Given the description of an element on the screen output the (x, y) to click on. 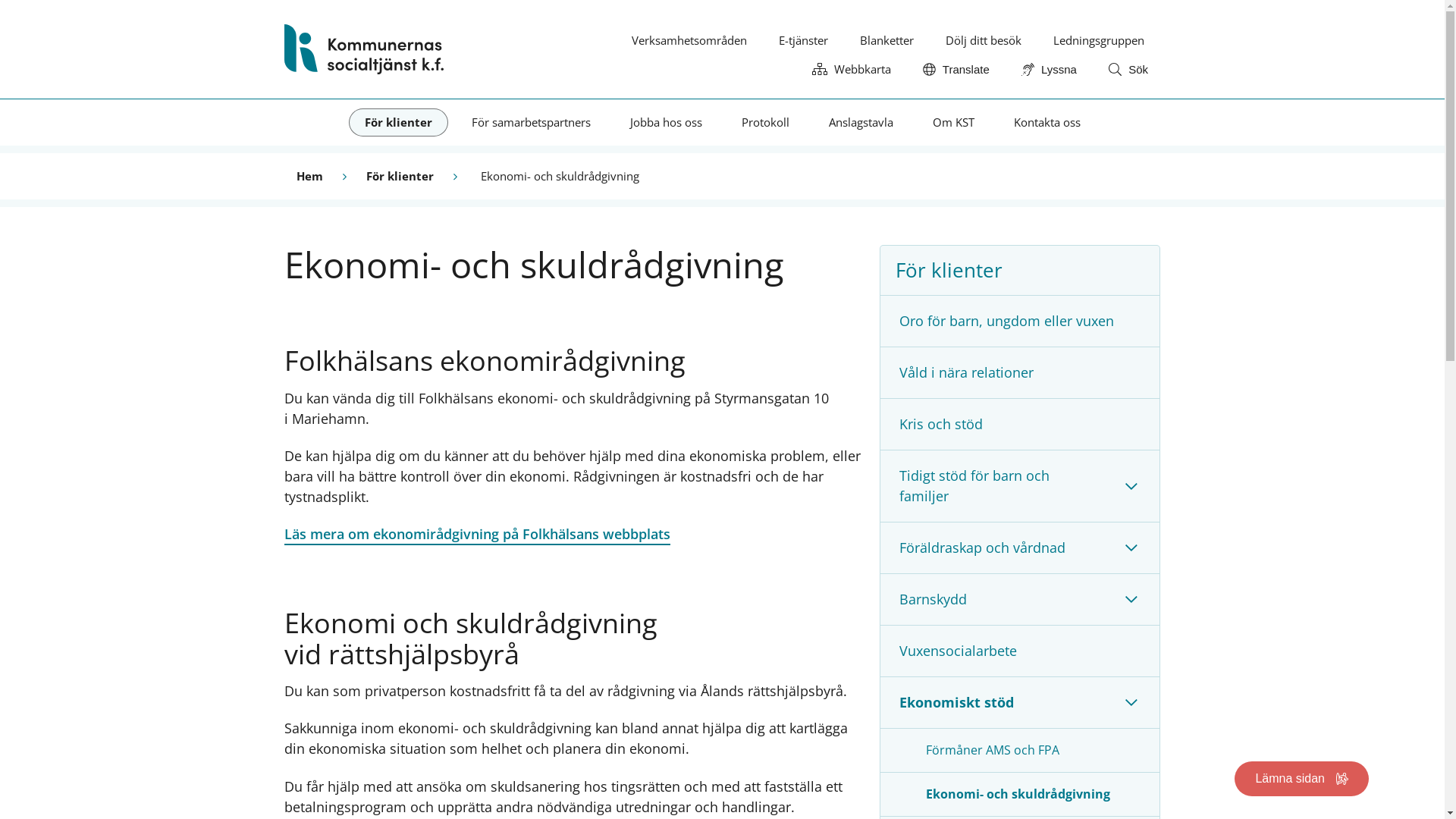
Protokoll Element type: text (764, 122)
Om KST Element type: text (952, 122)
Barnskydd Element type: text (991, 599)
Ledningsgruppen Element type: text (1098, 40)
Hem Element type: hover (363, 49)
Anslagstavla Element type: text (860, 122)
Translate Element type: text (955, 69)
Blanketter Element type: text (886, 40)
Webbkarta Element type: text (851, 68)
Hem Element type: text (309, 176)
Kontakta oss Element type: text (1046, 122)
Lyssna Element type: text (1048, 69)
Vuxensocialarbete Element type: text (1019, 650)
Jobba hos oss Element type: text (666, 122)
